Given the description of an element on the screen output the (x, y) to click on. 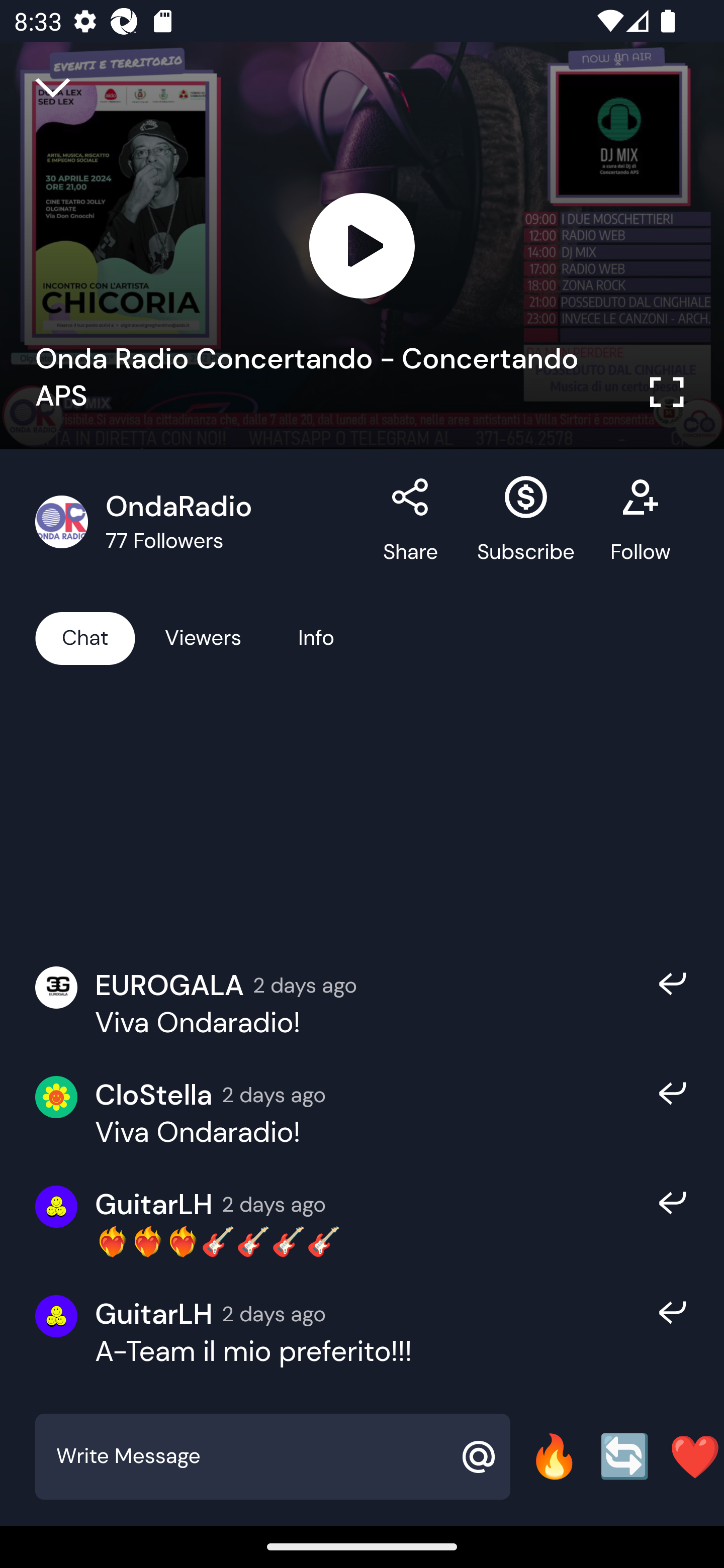
OndaRadio, 77 Followers OndaRadio 77 Followers (198, 521)
Share (410, 521)
Subscribe (525, 521)
Follow (640, 521)
Chat (84, 636)
Viewers (203, 636)
Info (316, 636)
EUROGALA (168, 984)
CloStella (153, 1094)
GuitarLH (153, 1204)
GuitarLH (153, 1313)
Write Message (250, 1456)
🔥 (553, 1456)
🔄 (624, 1456)
❤️ (694, 1456)
